Given the description of an element on the screen output the (x, y) to click on. 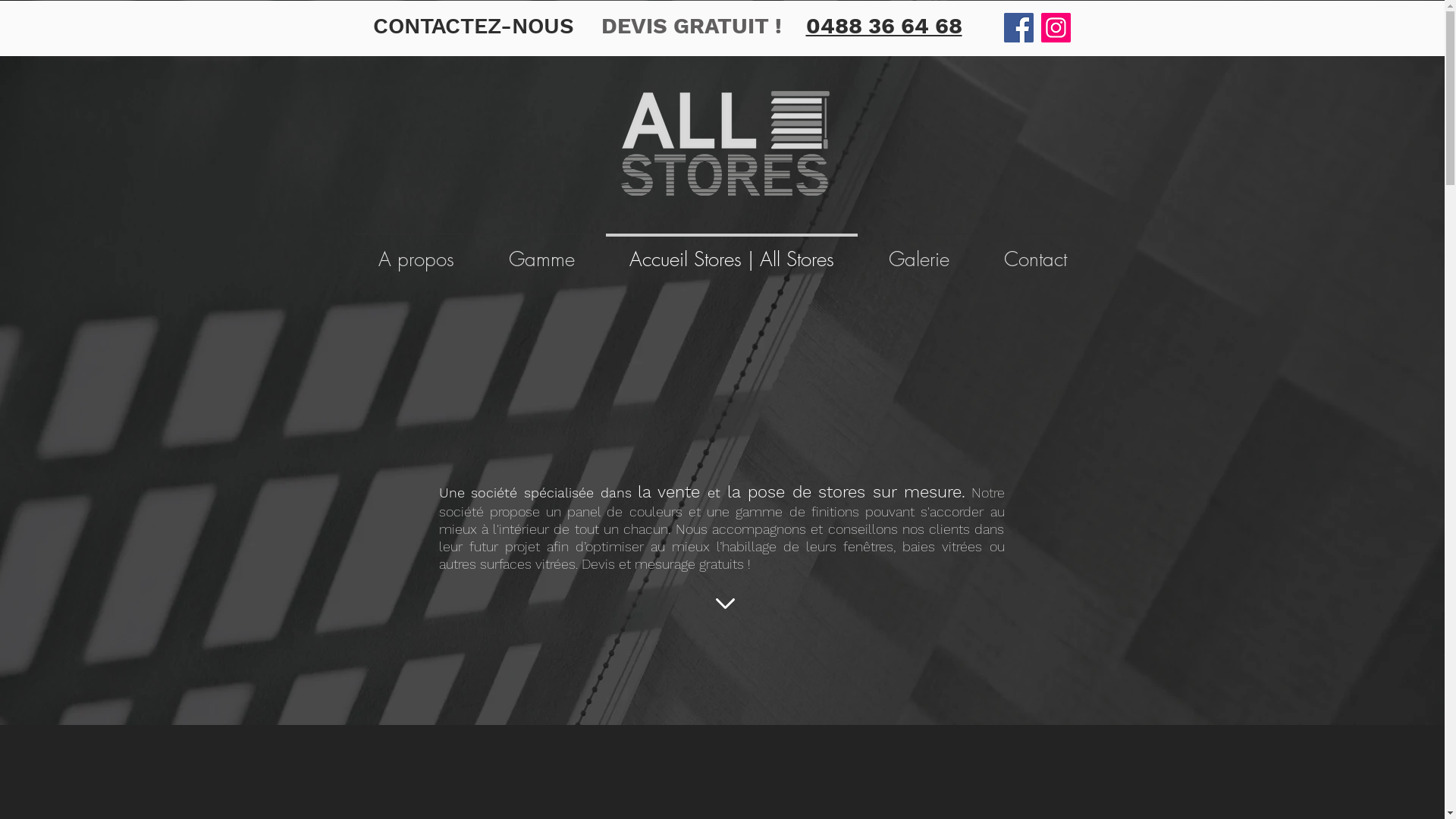
Contact Element type: text (1035, 252)
Gamme Element type: text (540, 252)
0488 36 64 68 Element type: text (883, 25)
Accueil Stores | All Stores Element type: text (731, 252)
Galerie Element type: text (918, 252)
A propos Element type: text (415, 252)
